Given the description of an element on the screen output the (x, y) to click on. 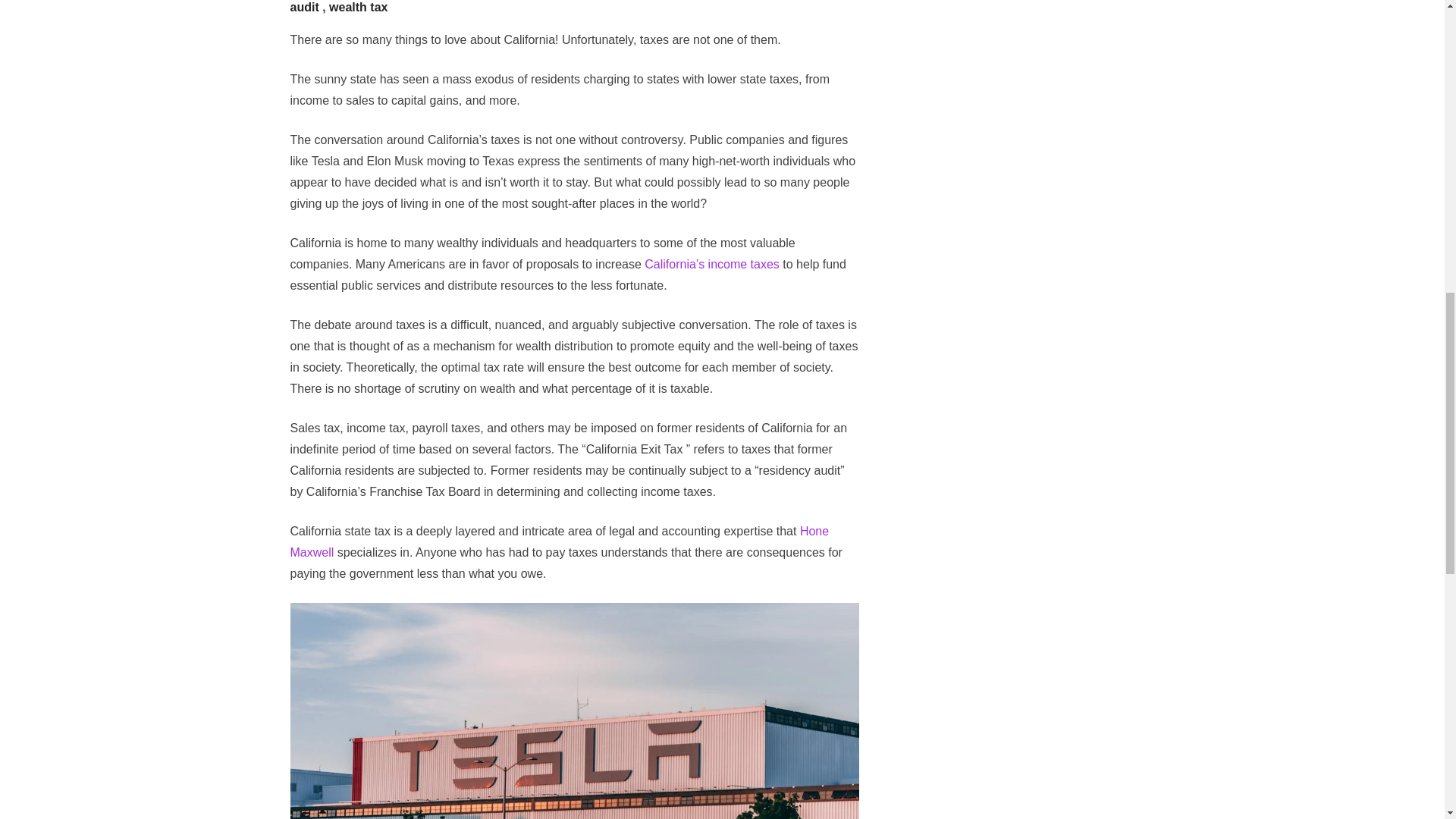
residency audit (571, 6)
Hone Maxwell (558, 541)
wealth tax (358, 6)
